Given the description of an element on the screen output the (x, y) to click on. 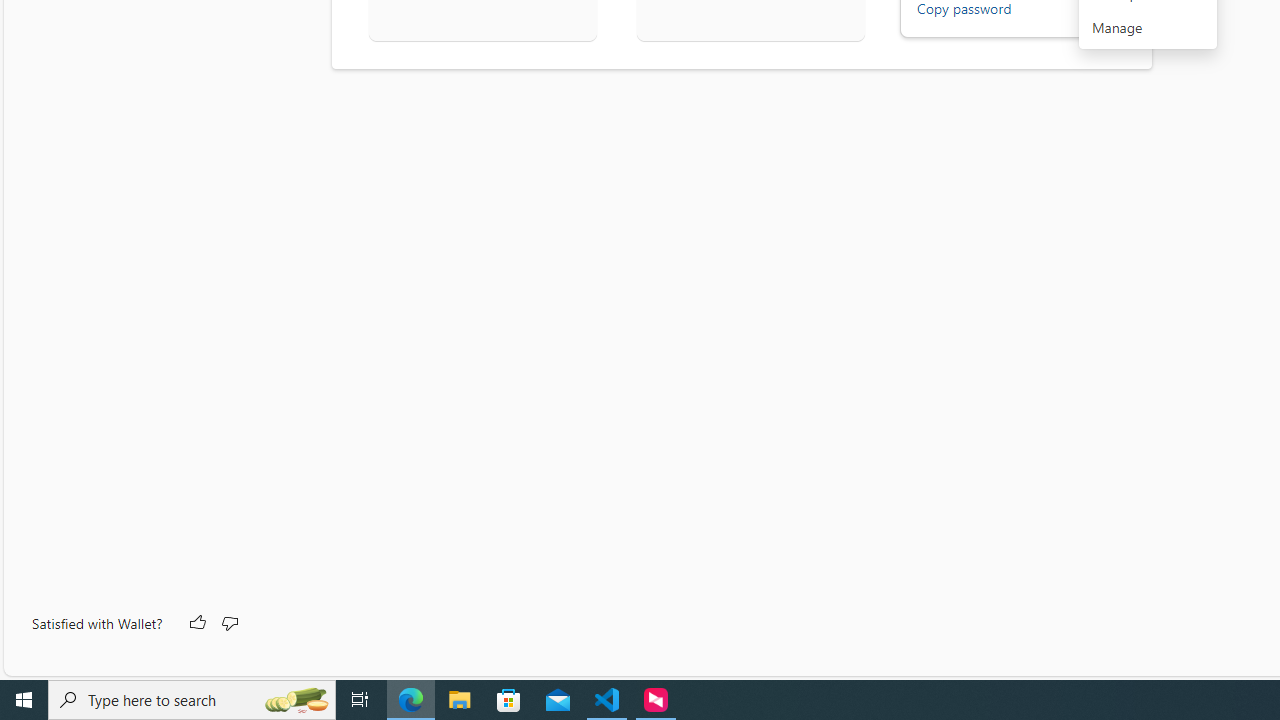
Like (196, 623)
Manage (1148, 27)
